Given the description of an element on the screen output the (x, y) to click on. 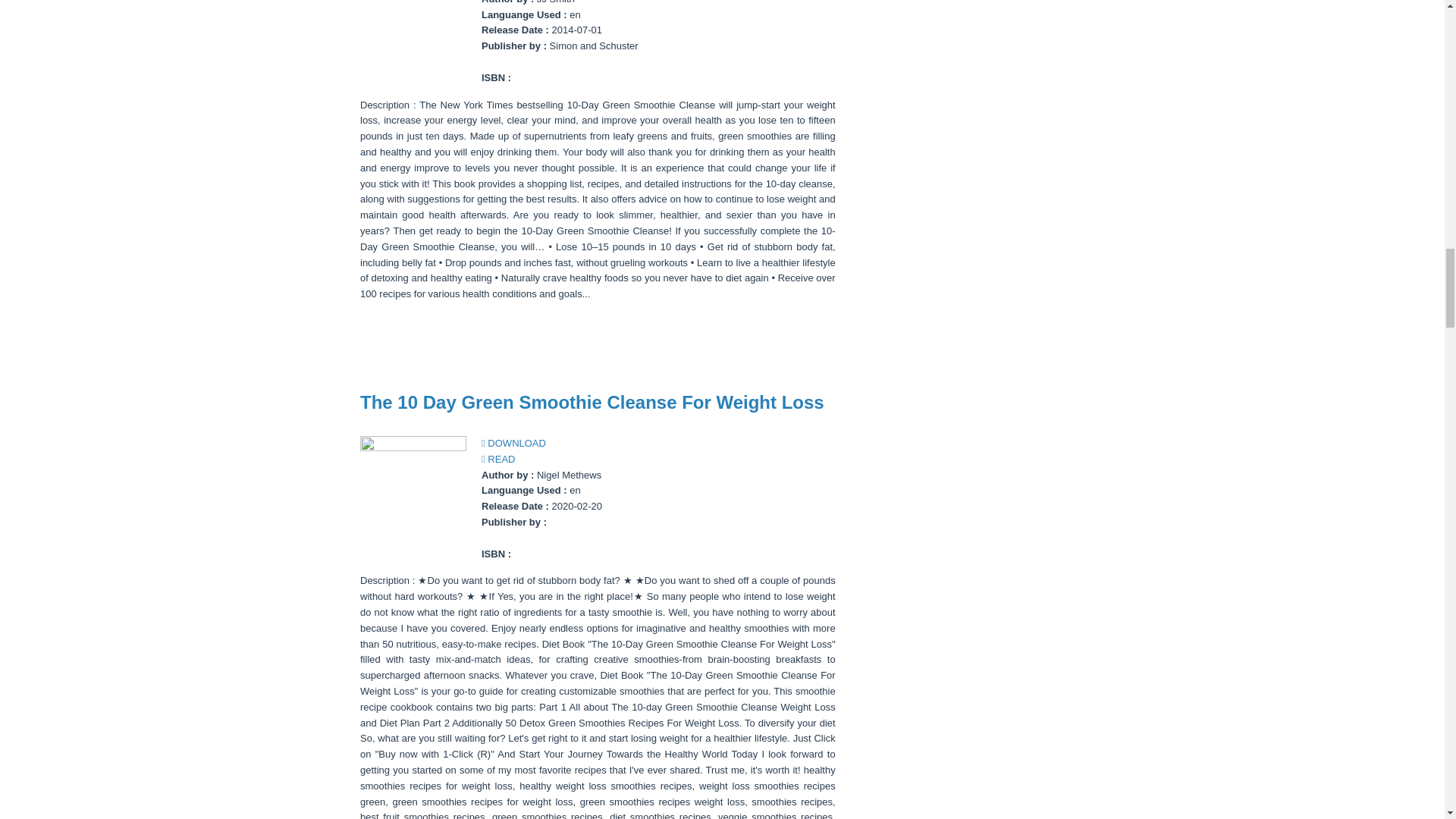
DOWNLOAD (513, 442)
The 10 Day Green Smoothie Cleanse For Weight Loss (591, 402)
The 10 Day Green Smoothie Cleanse For Weight Loss (591, 402)
READ (498, 459)
